Given the description of an element on the screen output the (x, y) to click on. 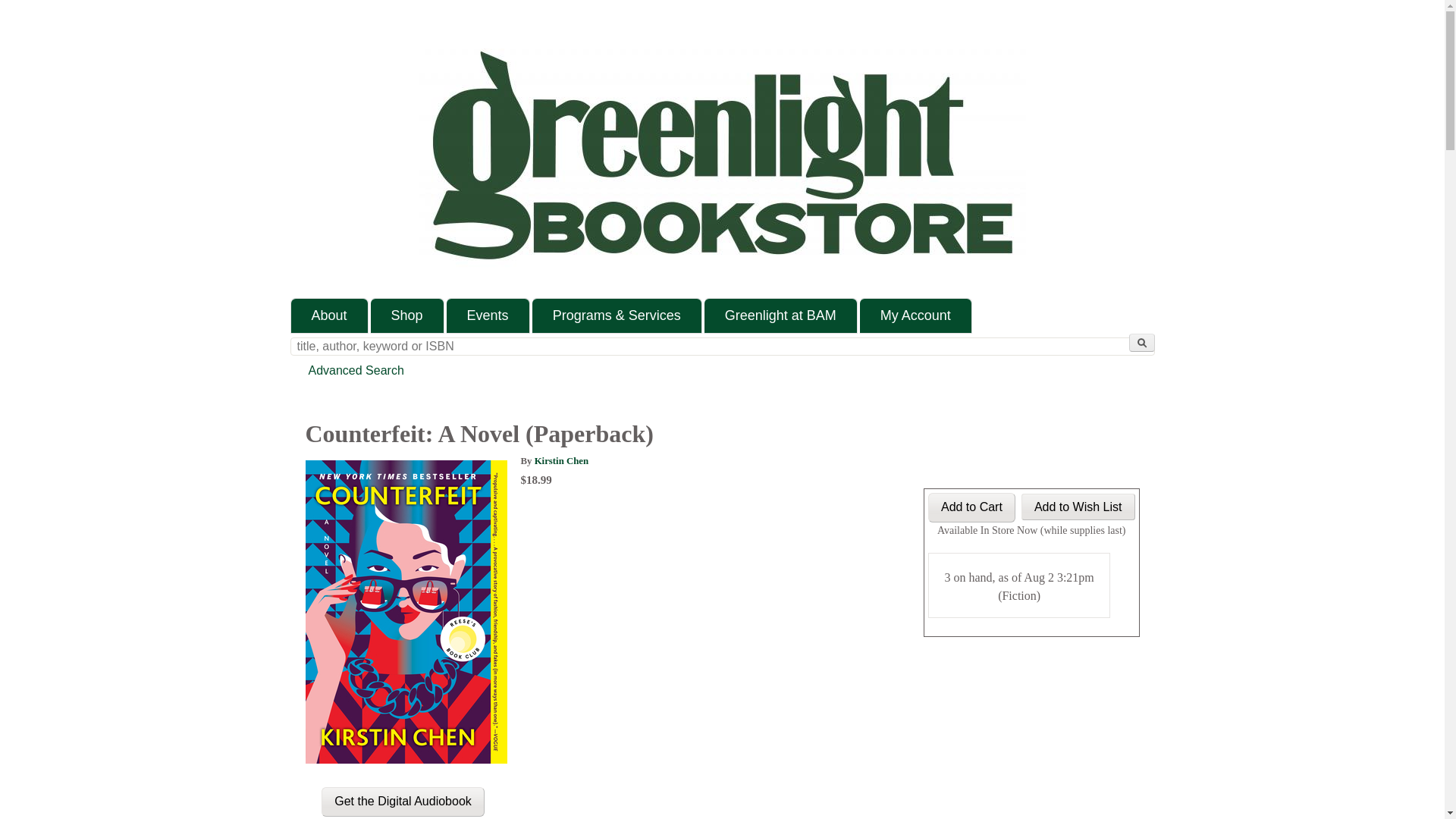
About (329, 315)
Shop (407, 315)
Add to Cart (971, 507)
Search (1141, 342)
Get the Digital Audiobook (402, 801)
